Given the description of an element on the screen output the (x, y) to click on. 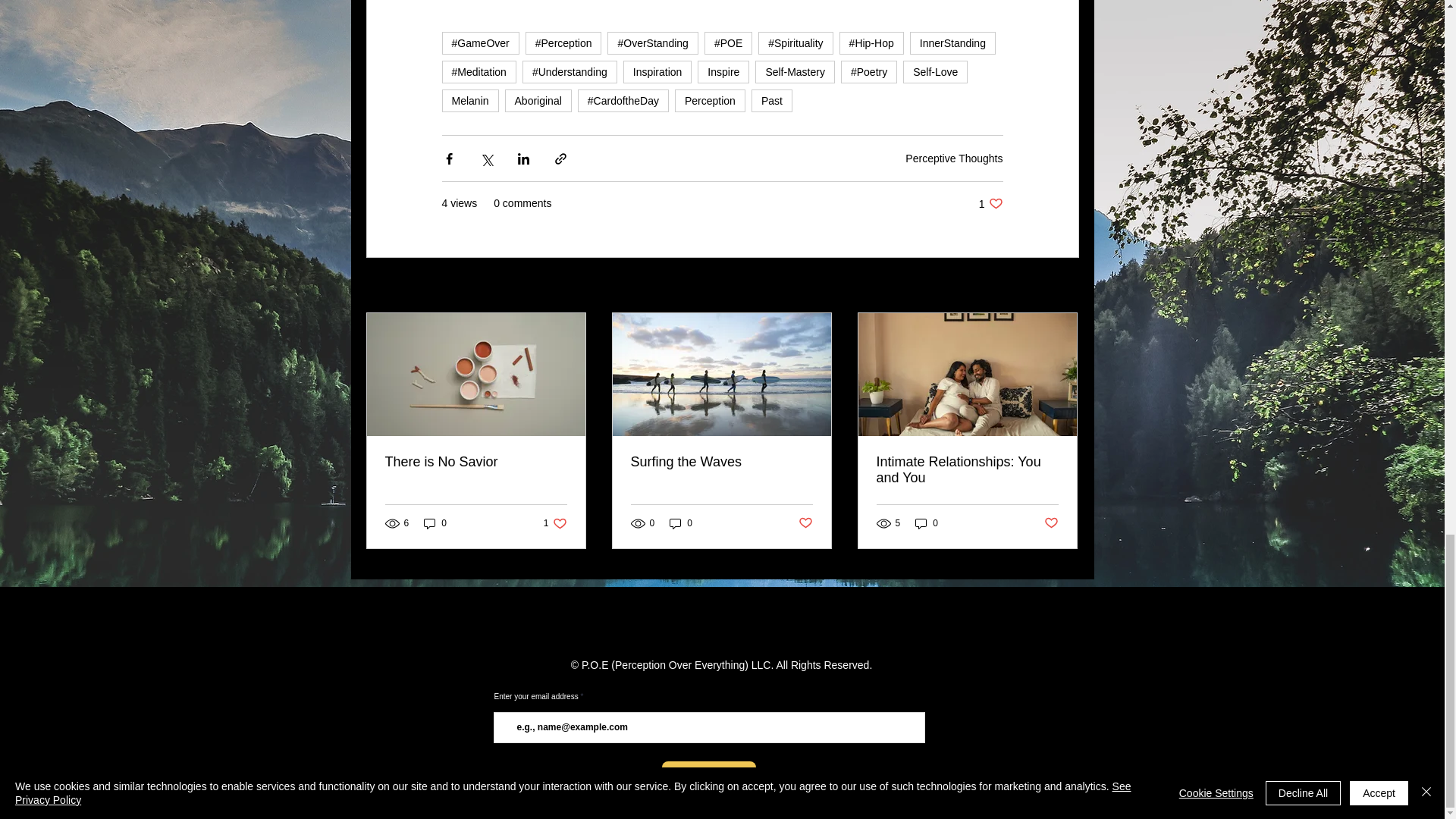
Perceptive Thoughts (954, 158)
Perception (710, 100)
InnerStanding (952, 42)
Self-Love (935, 71)
Inspiration (658, 71)
Past (771, 100)
Aboriginal (538, 100)
Self-Mastery (794, 71)
Inspire (723, 71)
Melanin (469, 100)
